Given the description of an element on the screen output the (x, y) to click on. 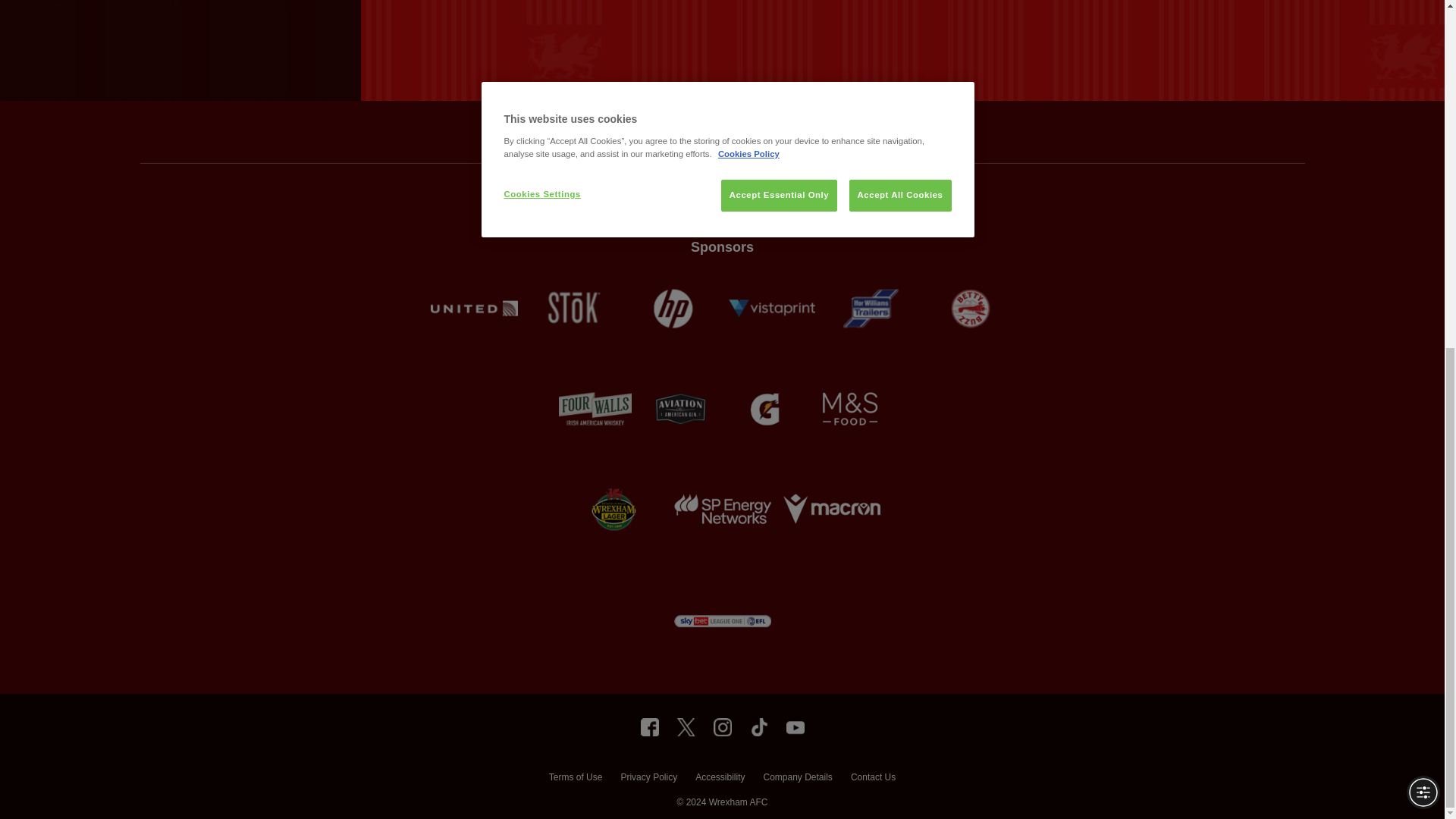
Terms of Use (575, 779)
Company Details (796, 779)
Help widget launcher (75, 180)
Privacy Policy (648, 779)
Contact Us (872, 779)
Accessibility (719, 779)
Company Details (796, 779)
Contact Us (872, 779)
Terms of Use (575, 779)
Accessibility (719, 779)
Accessibility Menu (1422, 192)
Privacy Policy (648, 779)
